Given the description of an element on the screen output the (x, y) to click on. 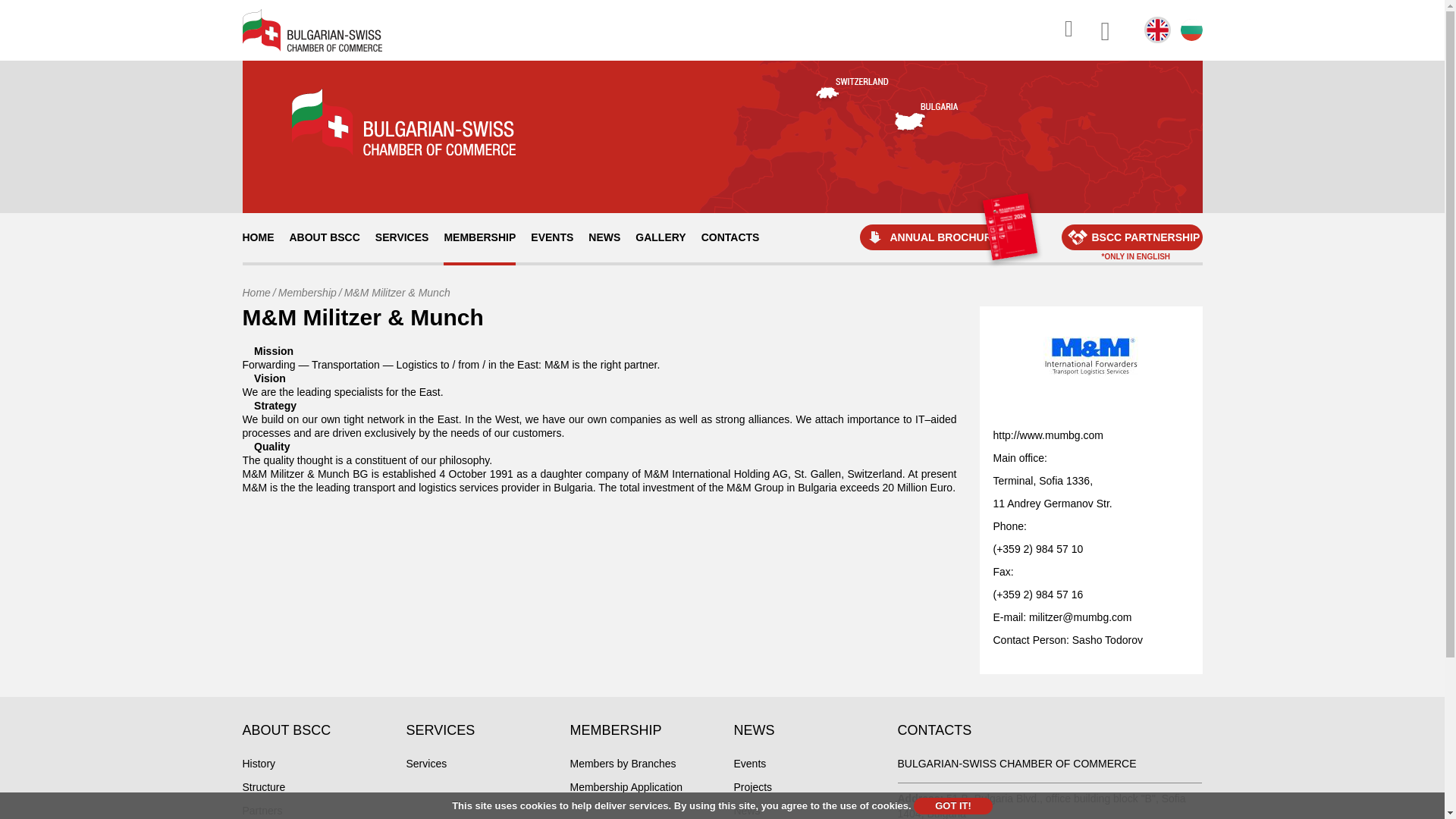
Membership (307, 292)
Projects (753, 787)
Services (426, 763)
Membership Application (626, 787)
Structure (264, 787)
SERVICES (402, 237)
Home (256, 292)
Events (750, 763)
News (746, 810)
History (259, 763)
Home (256, 292)
HOME (258, 237)
Members by Branches (623, 763)
NEWS (603, 237)
GALLERY (660, 237)
